Given the description of an element on the screen output the (x, y) to click on. 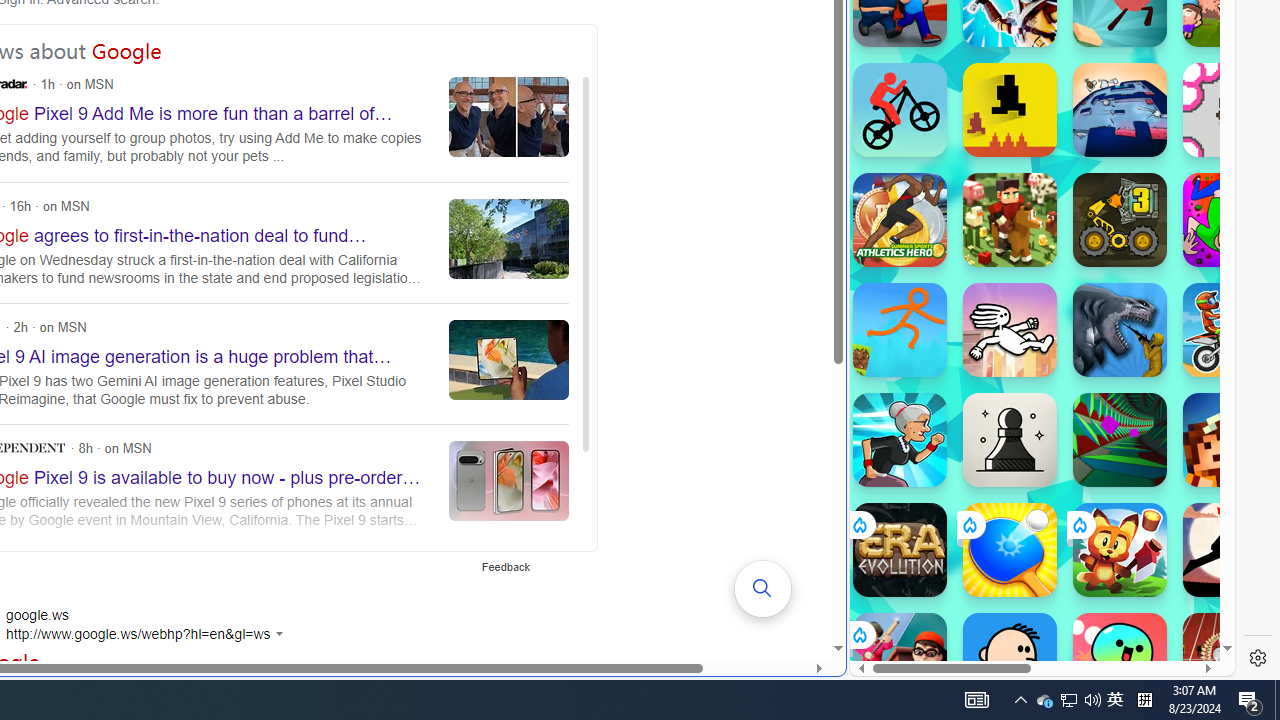
Era: Evolution Era: Evolution (899, 549)
Combat Reloaded (1092, 300)
Stickman Bike Stickman Bike (899, 109)
Classic Chess Classic Chess (1009, 439)
Ping Pong Go! Ping Pong Go! (1009, 549)
Tunnel Rush (1119, 439)
Era: Evolution (899, 549)
100 Metres Race 100 Metres Race (1229, 659)
Athletics Hero Athletics Hero (899, 219)
Stickman Bike (899, 109)
Big Tower Tiny Square (1119, 109)
Into the Pit (1229, 109)
Dreadhead Parkour Dreadhead Parkour (1009, 329)
Combat Reloaded Combat Reloaded poki.com (1092, 245)
